Given the description of an element on the screen output the (x, y) to click on. 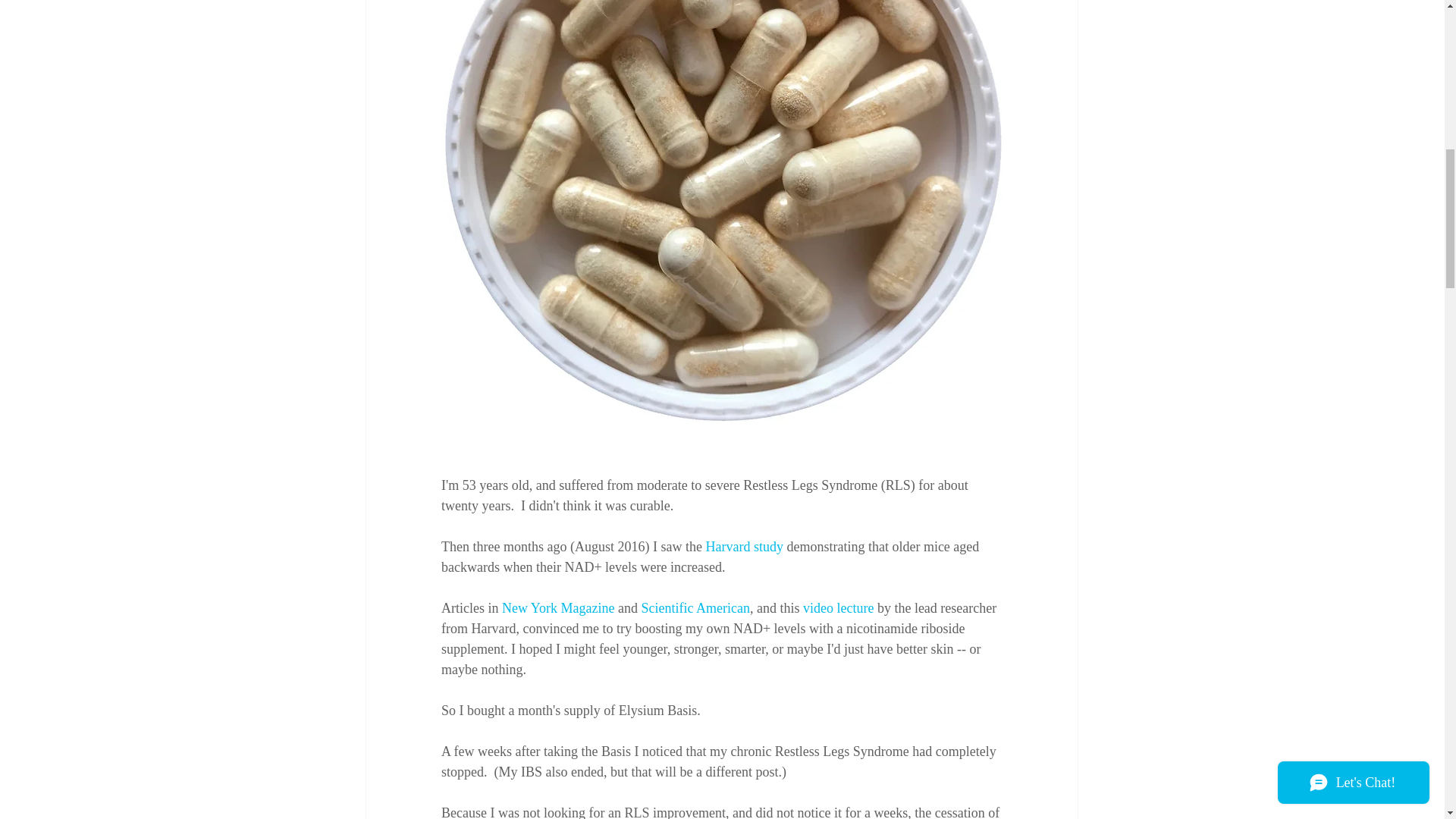
video lecture (837, 607)
Scientific American (694, 607)
Harvard study (743, 546)
New York Magazine (556, 607)
